Given the description of an element on the screen output the (x, y) to click on. 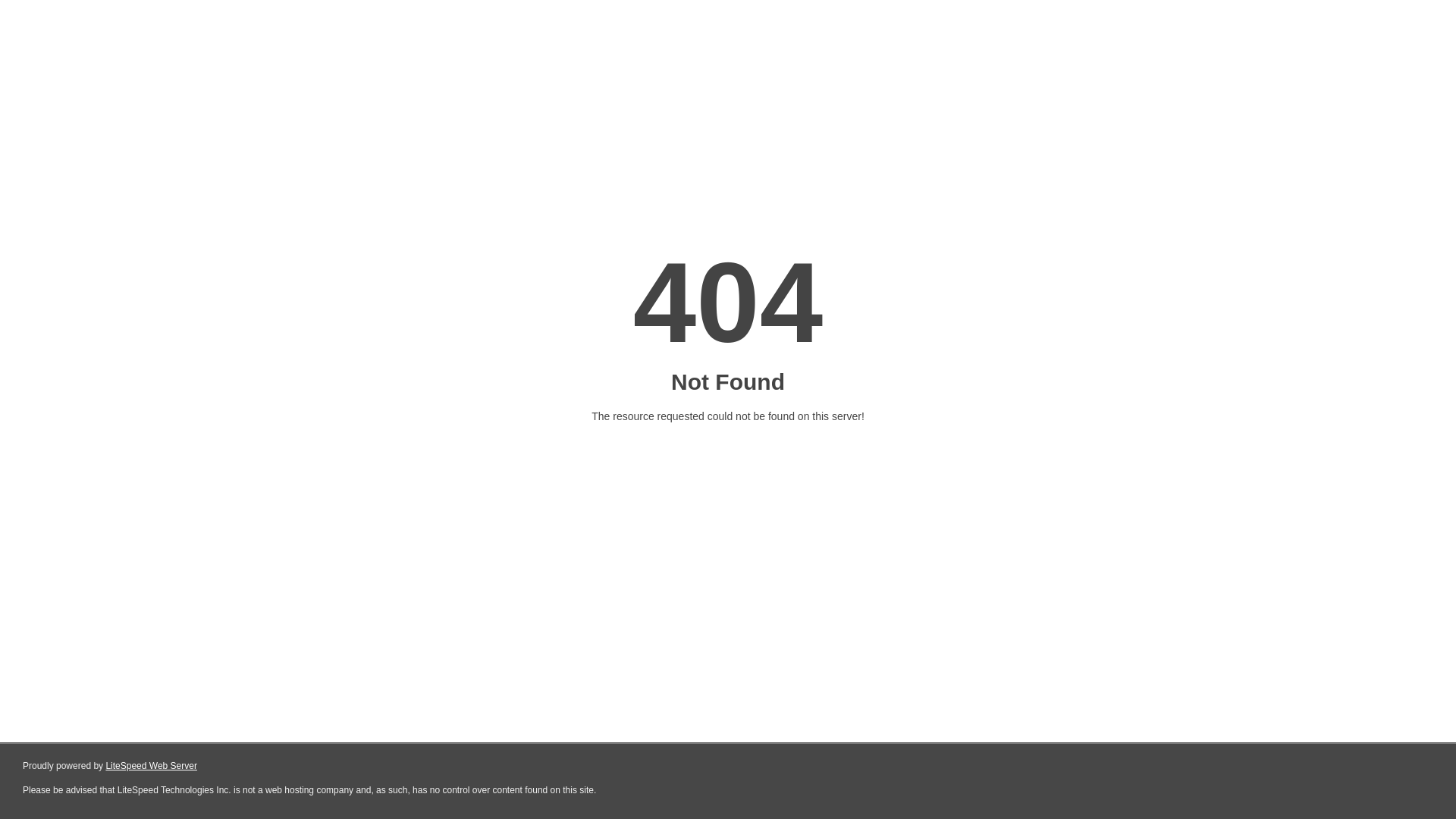
LiteSpeed Web Server Element type: text (151, 765)
